Given the description of an element on the screen output the (x, y) to click on. 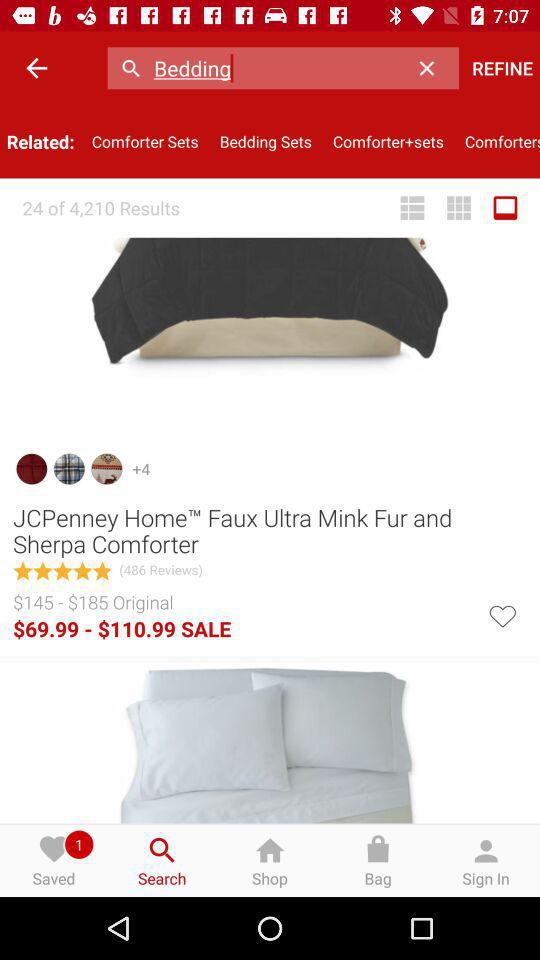
flip to bedding sets item (265, 141)
